Given the description of an element on the screen output the (x, y) to click on. 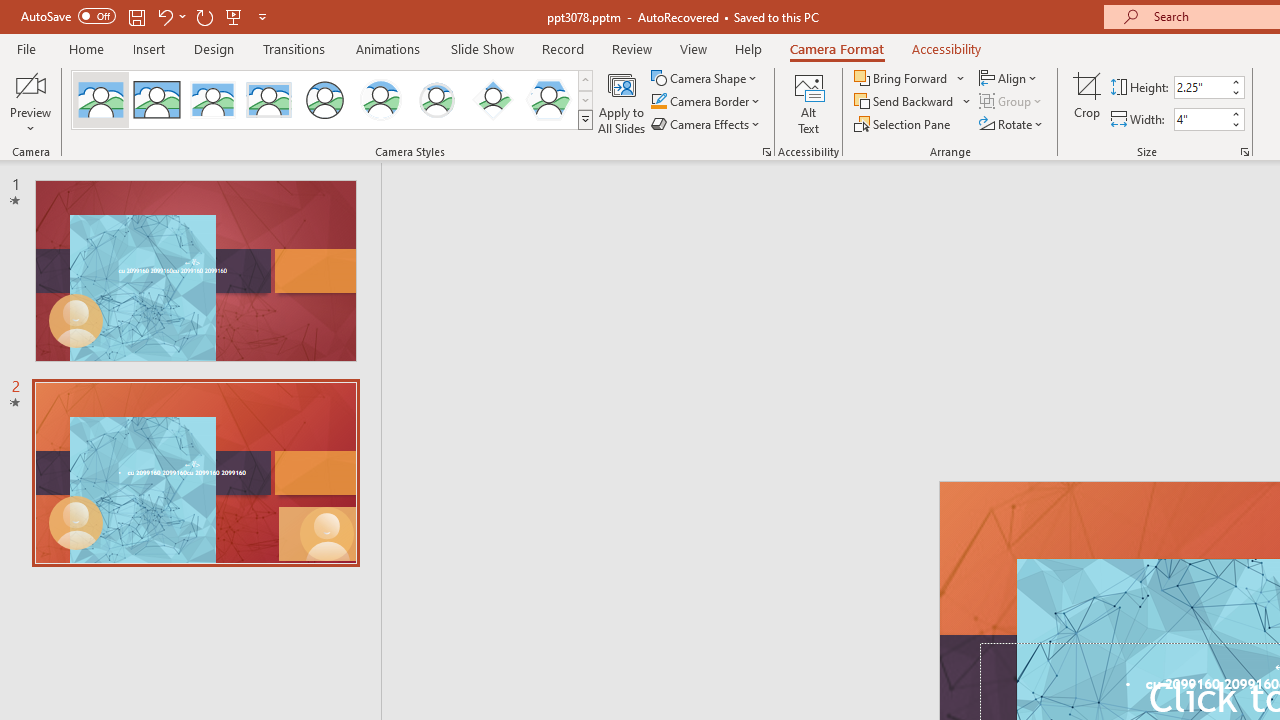
Camera Shape (705, 78)
Camera Format (836, 48)
Align (1009, 78)
Send Backward (913, 101)
Alt Text (808, 102)
Cameo Width (1201, 119)
Cameo Height (1201, 87)
